Given the description of an element on the screen output the (x, y) to click on. 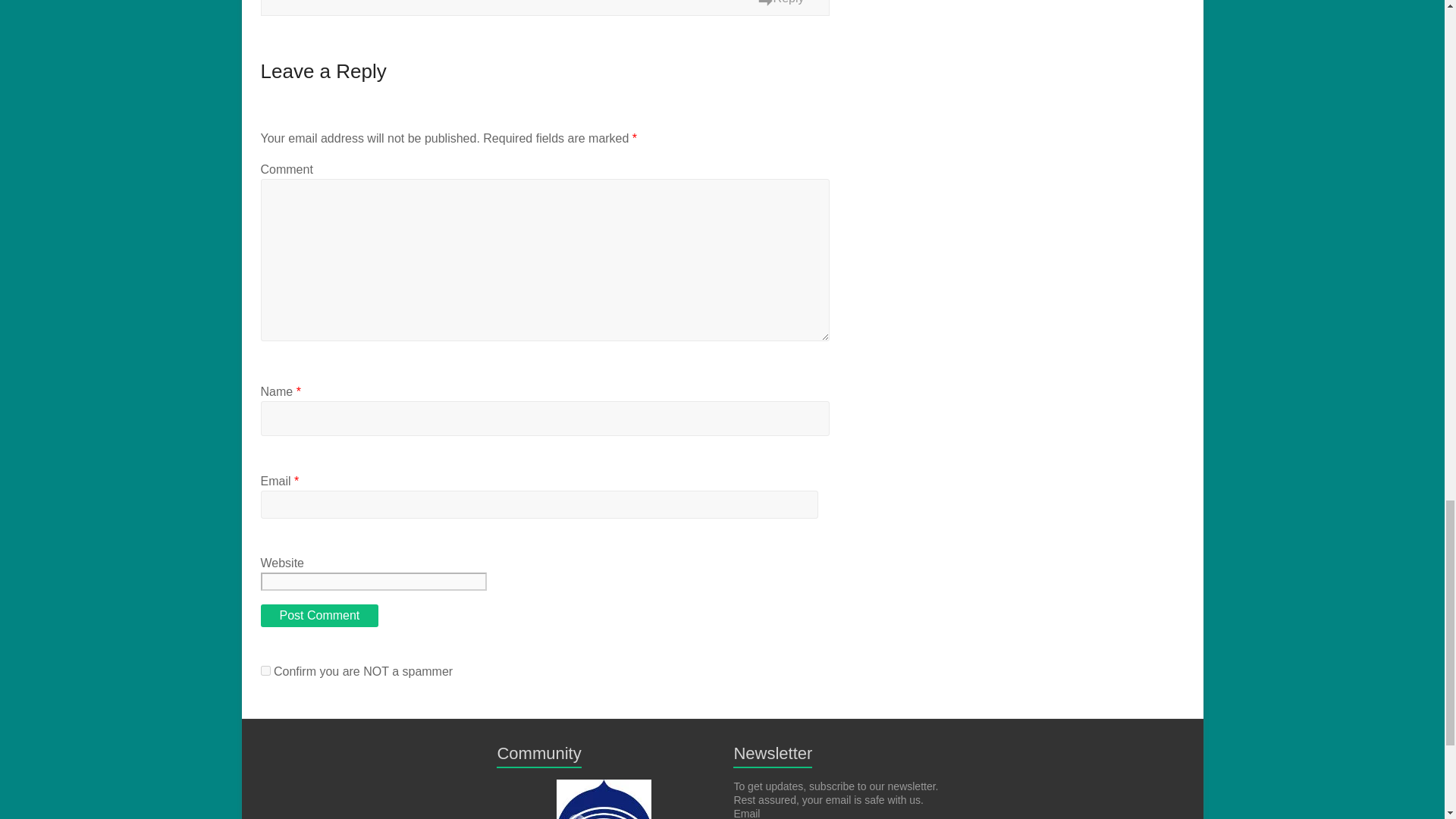
Post Comment (319, 615)
on (265, 670)
